Given the description of an element on the screen output the (x, y) to click on. 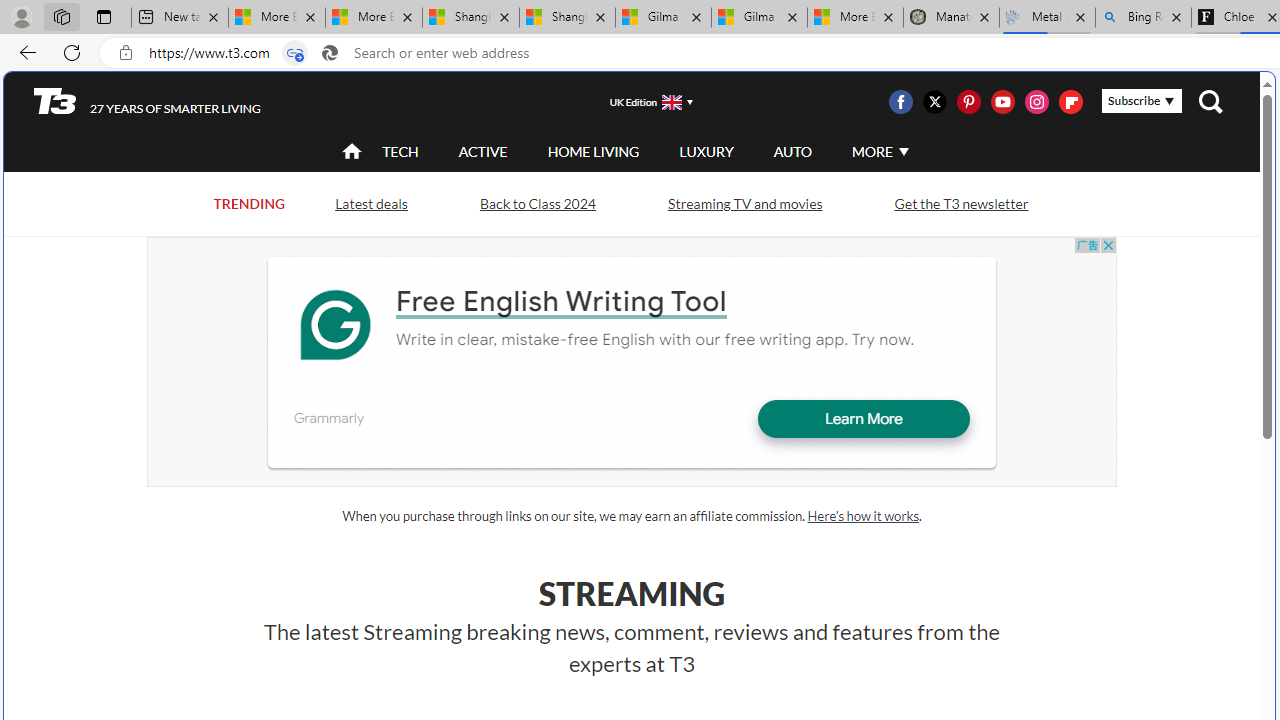
Visit us on Facebook (900, 101)
Shanghai, China weather forecast | Microsoft Weather (567, 17)
AUTO (792, 151)
Get the T3 newsletter (961, 202)
flag of UK (672, 102)
AUTO (792, 151)
Back to Class 2024 (537, 202)
MORE  (878, 151)
HOME LIVING (593, 151)
Visit us on Flipboard (1070, 101)
T3 (55, 100)
Visit us on Youtube (1002, 101)
